Given the description of an element on the screen output the (x, y) to click on. 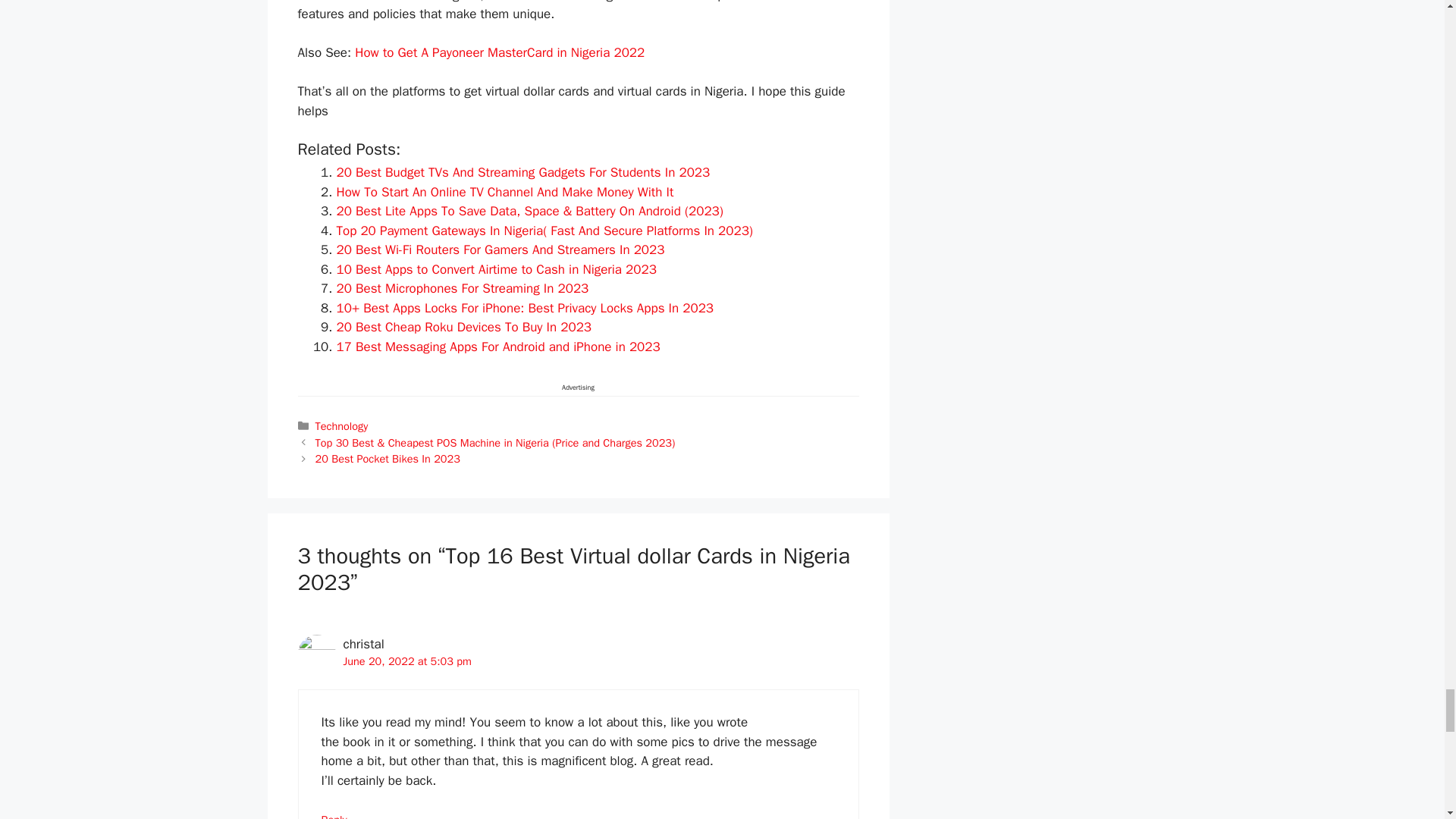
How To Start An Online TV Channel And Make Money With It (505, 191)
20 Best Cheap Roku Devices To Buy In 2023 (464, 326)
20 Best Wi-Fi Routers For Gamers And Streamers In 2023 (500, 249)
20 Best Microphones For Streaming In 2023 (462, 288)
10 Best Apps to Convert Airtime to Cash in Nigeria 2023 (496, 269)
